Given the description of an element on the screen output the (x, y) to click on. 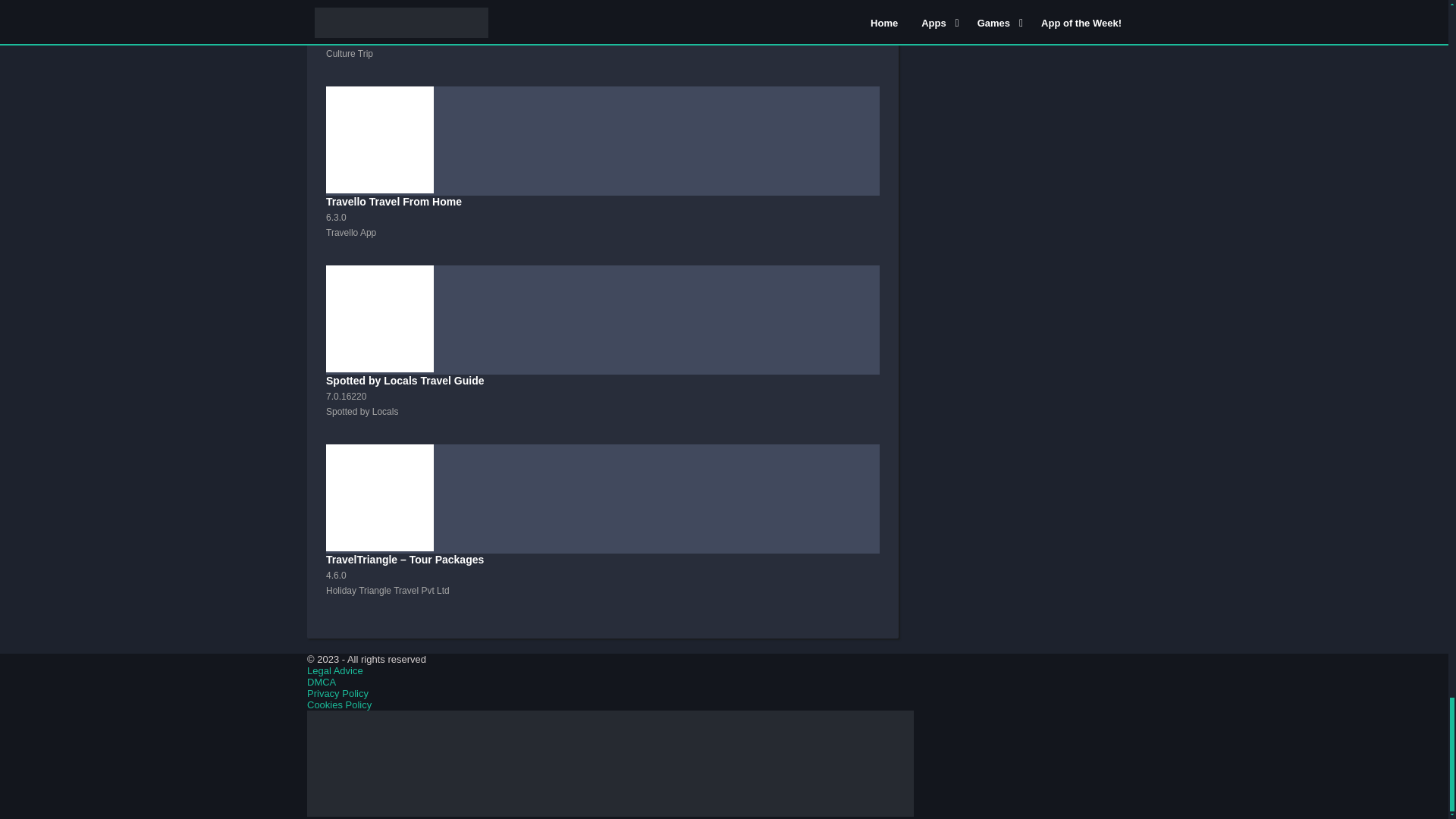
Travello Travel From Home (602, 175)
Spotted by Locals Travel Guide (602, 354)
Culture Trip: Book Travel (602, 43)
